Given the description of an element on the screen output the (x, y) to click on. 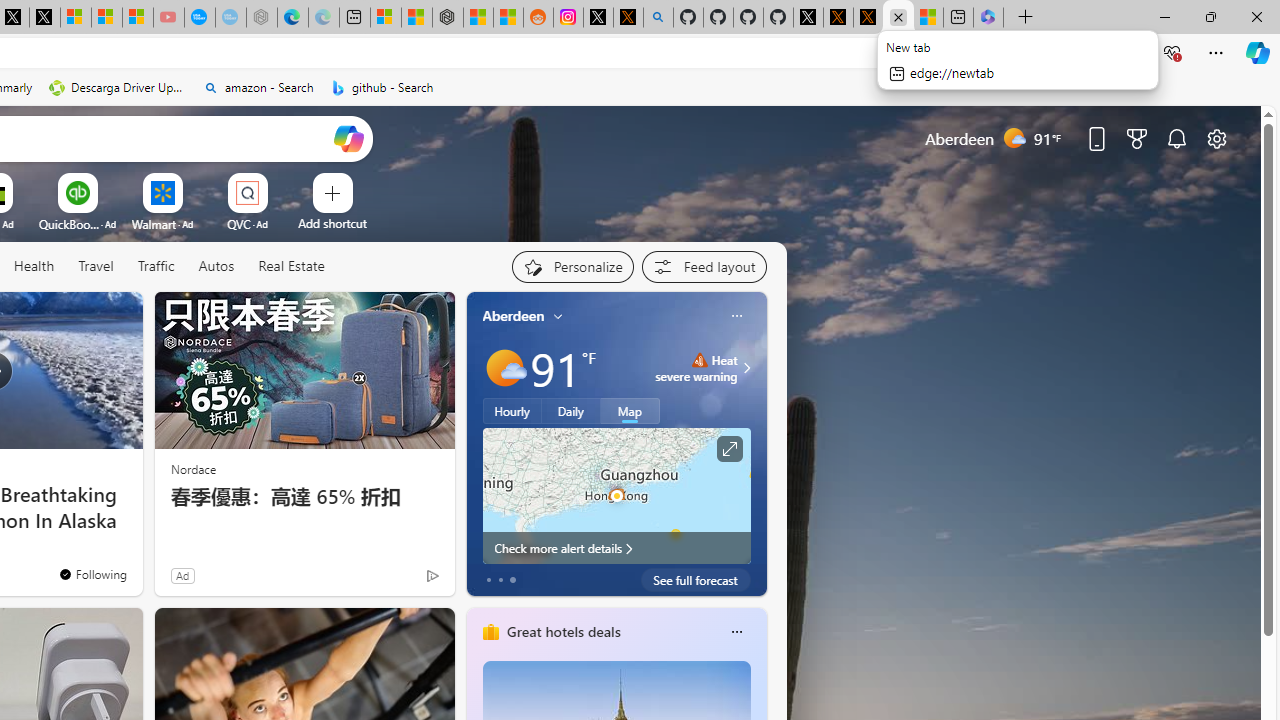
Heat - Severe Heat severe warning (696, 367)
help.x.com | 524: A timeout occurred (628, 17)
Collections (1128, 52)
Ad (182, 575)
Add a site (332, 223)
New Tab (1025, 17)
Browser essentials (1171, 52)
Class: weather-arrow-glyph (746, 367)
Check more alert details (616, 547)
Real Estate (291, 265)
Larger map  (616, 495)
Nordace (193, 468)
amazon - Search (258, 88)
Open Copilot (347, 138)
Login | Microsoft 365 (988, 17)
